Given the description of an element on the screen output the (x, y) to click on. 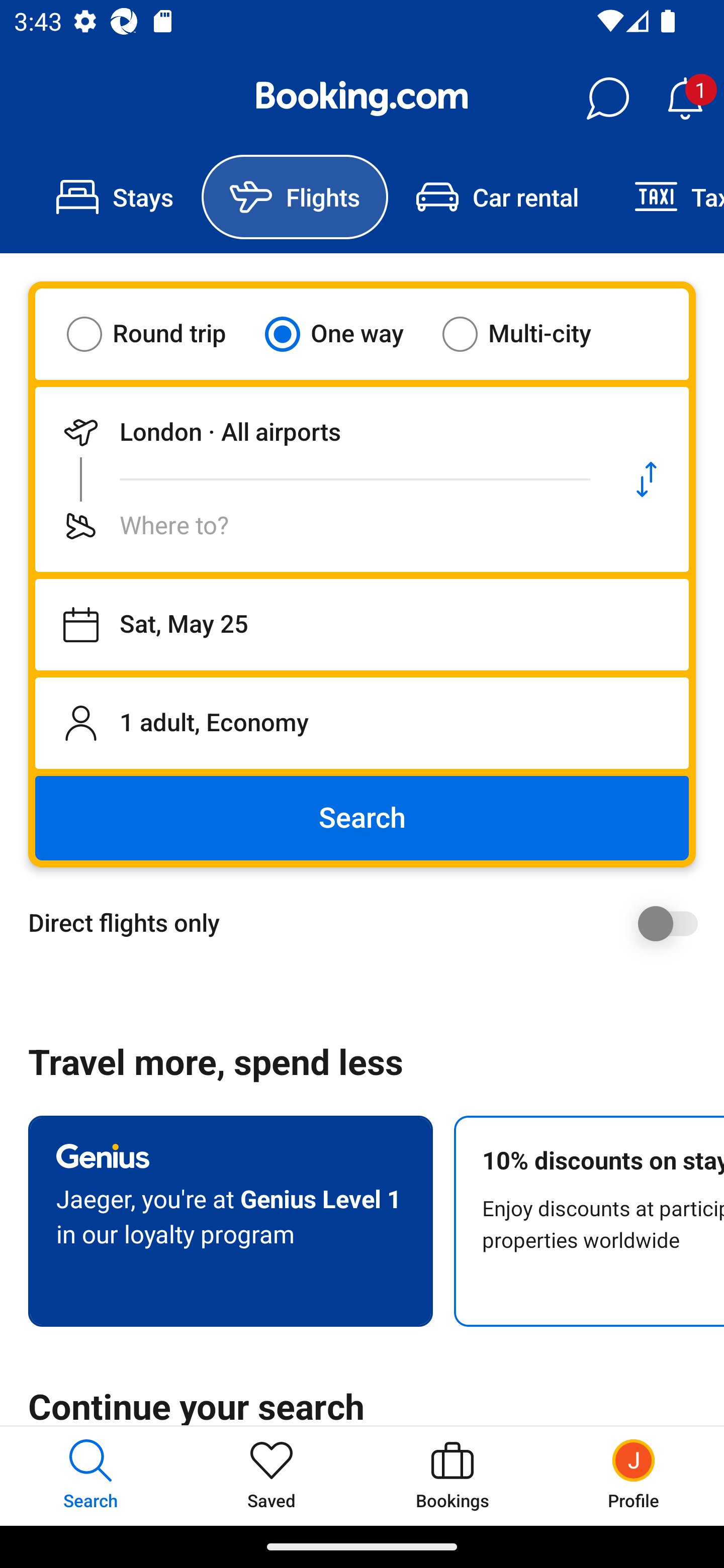
Messages (607, 98)
Notifications (685, 98)
Stays (114, 197)
Flights (294, 197)
Car rental (497, 197)
Taxi (665, 197)
Round trip (158, 333)
Multi-city (528, 333)
Departing from London · All airports (319, 432)
Swap departure location and destination (646, 479)
Flying to  (319, 525)
Departing on Sat, May 25 (361, 624)
1 adult, Economy (361, 722)
Search (361, 818)
Direct flights only (369, 923)
Saved (271, 1475)
Bookings (452, 1475)
Profile (633, 1475)
